Given the description of an element on the screen output the (x, y) to click on. 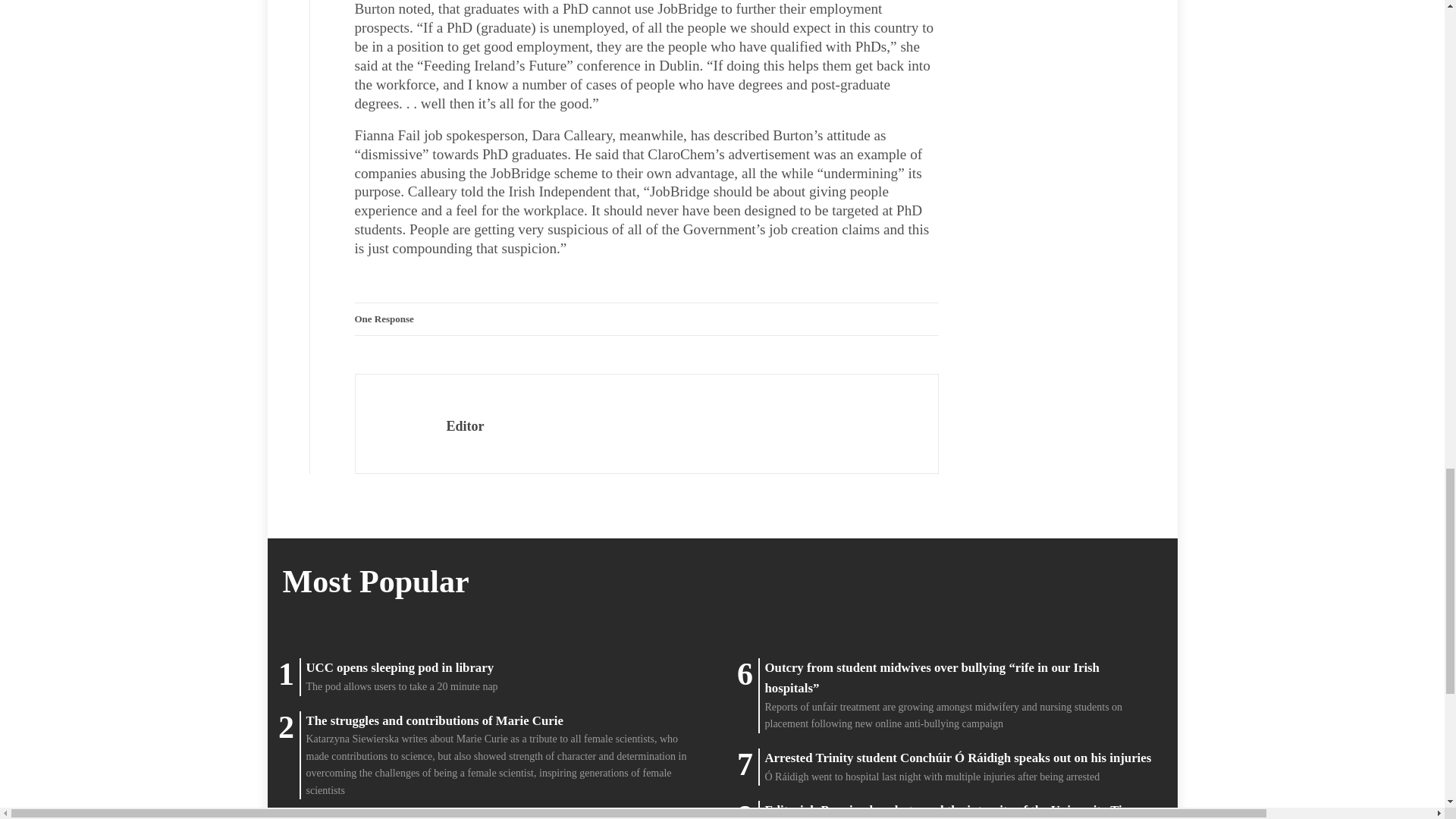
Editor (464, 426)
One Response (384, 318)
